Given the description of an element on the screen output the (x, y) to click on. 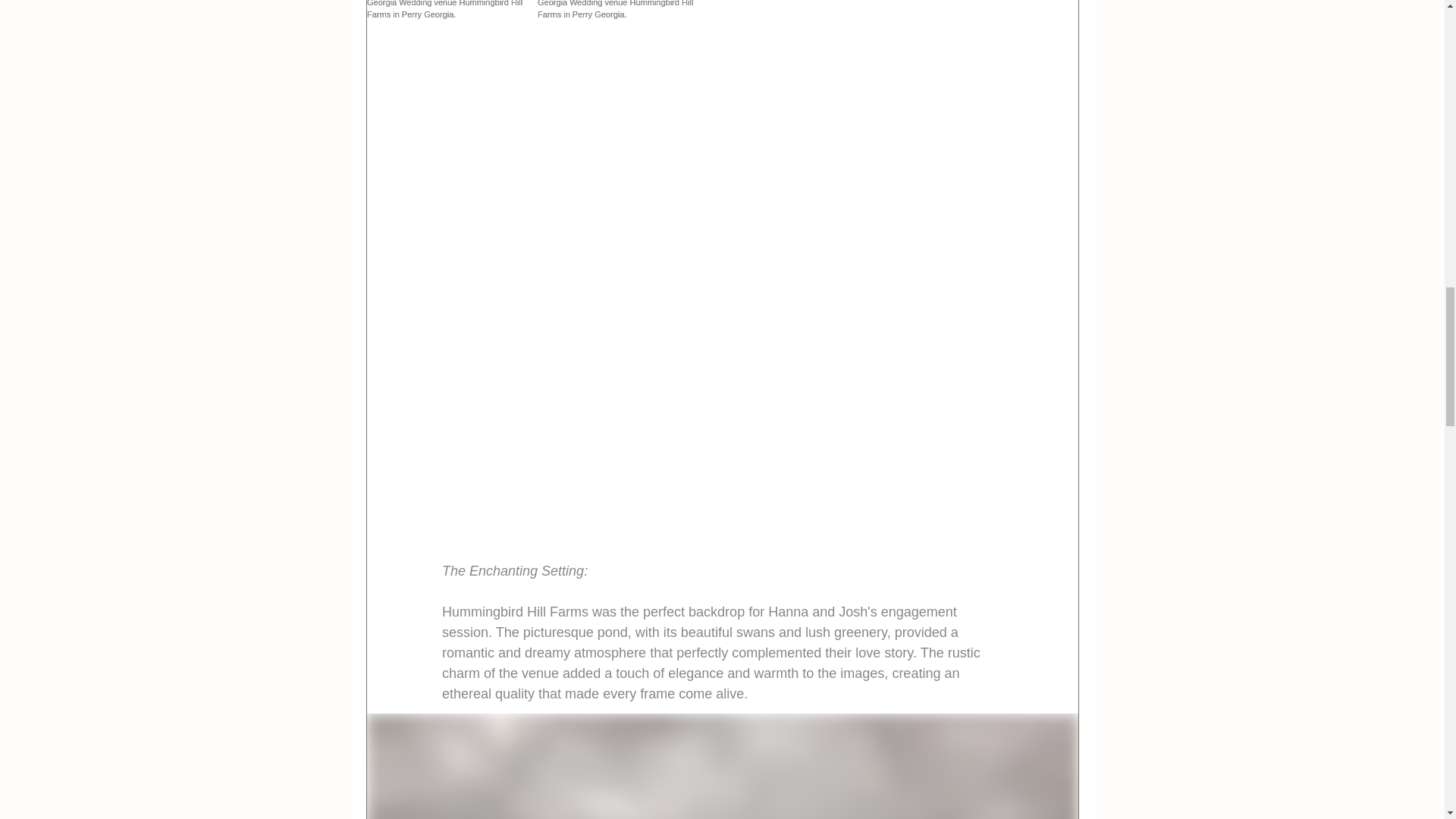
Pin to Pinterest (470, 337)
